Given the description of an element on the screen output the (x, y) to click on. 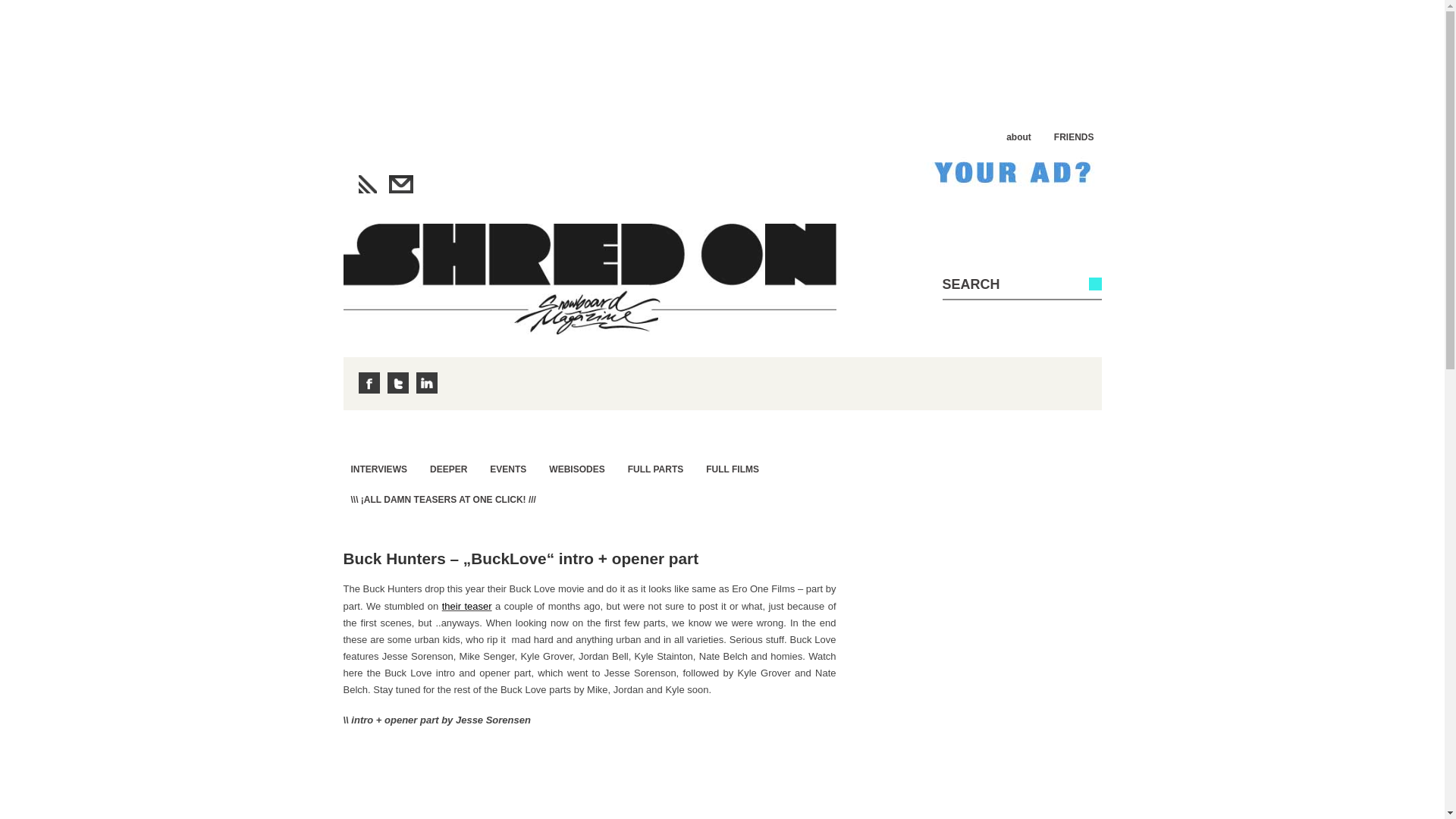
search (1003, 284)
Subscribe via Email (400, 184)
full films (732, 469)
the entire ShredOn Mag teaser section (442, 499)
their teaser (467, 605)
full parts (655, 469)
FULL FILMS (732, 469)
Subscribe via RSS (366, 184)
search (1003, 284)
friends (1074, 136)
Buck Hunters - Buck Love teaser (467, 605)
ShredOn Snowboard Magazine (588, 278)
WEBISODES (576, 469)
FULL PARTS (655, 469)
DEEPER (448, 469)
